Given the description of an element on the screen output the (x, y) to click on. 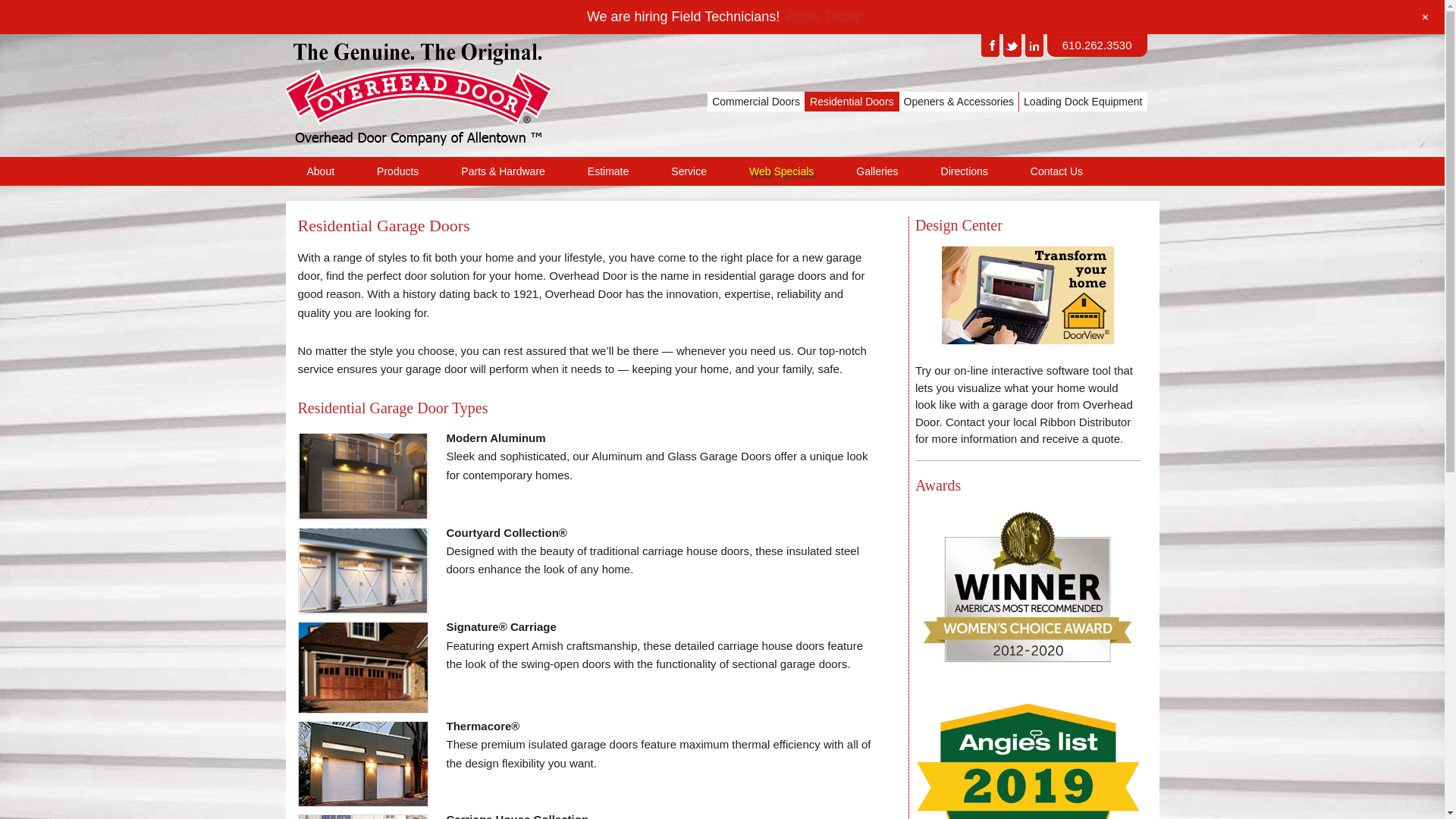
Estimate (607, 171)
About (320, 171)
Products (397, 171)
Commercial Doors (756, 101)
Web Specials (781, 171)
Loading Dock Equipment (1083, 101)
Contact Us (1056, 171)
Galleries (876, 171)
Angie's List Super Service Award (1028, 754)
OVERHEAD DOOR CO. OF ALLENTOWN, PA (459, 98)
